Given the description of an element on the screen output the (x, y) to click on. 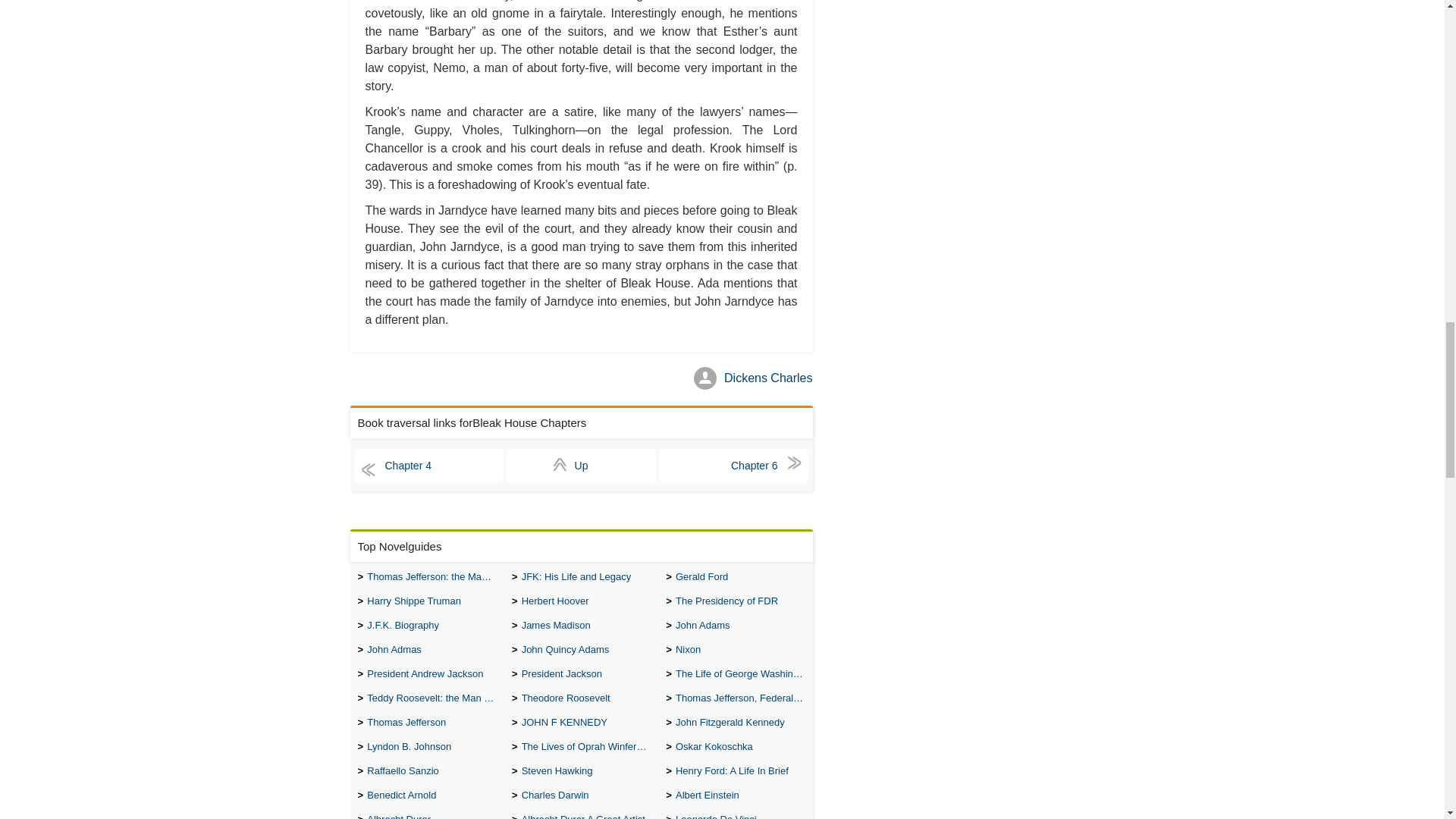
Go to previous page (429, 465)
Go to next page (733, 465)
Go to parent page (581, 465)
